Given the description of an element on the screen output the (x, y) to click on. 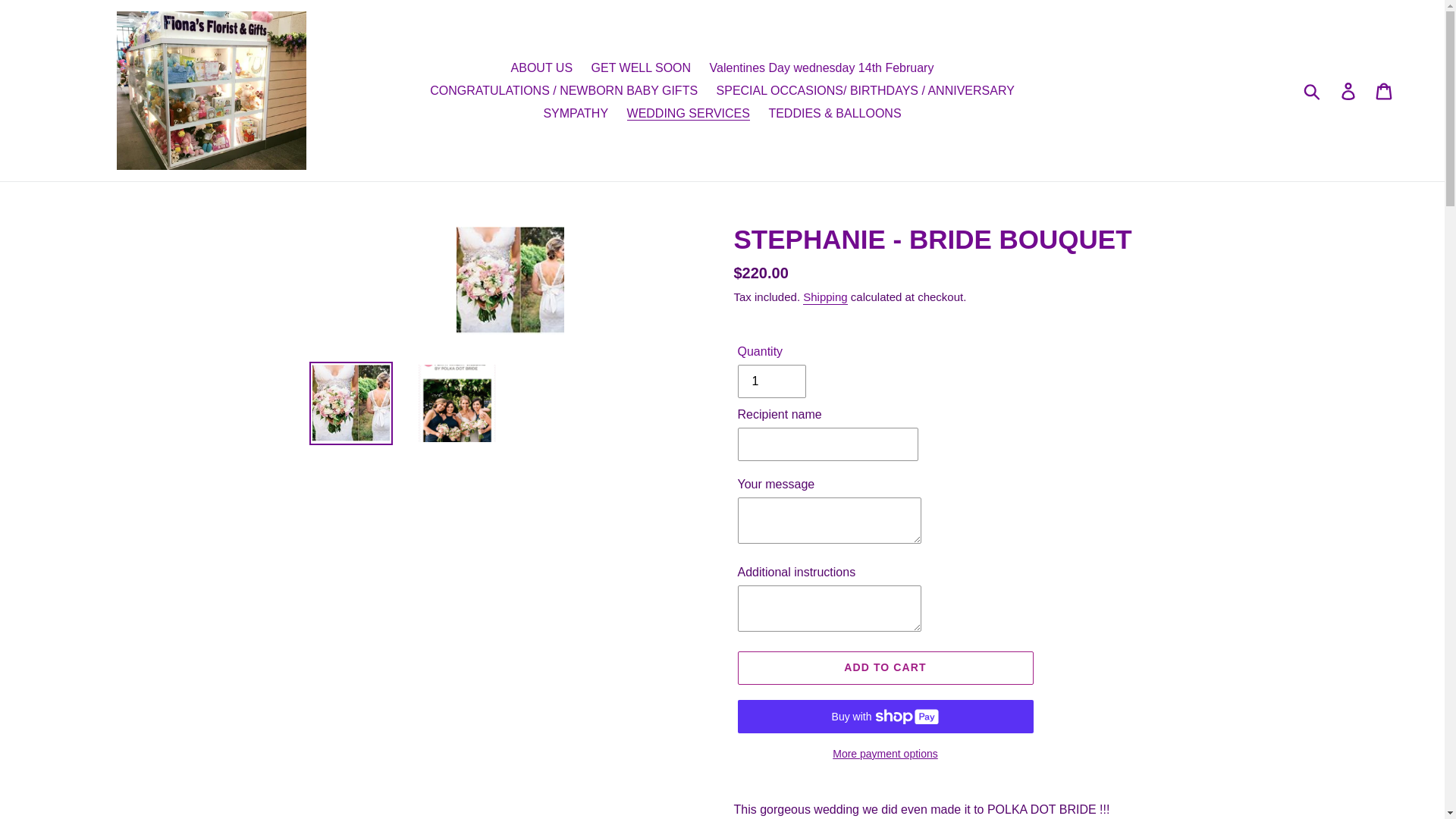
WEDDING SERVICES (688, 112)
ADD TO CART (884, 667)
ABOUT US (541, 67)
GET WELL SOON (640, 67)
1 (770, 381)
Cart (1385, 90)
Valentines Day wednesday 14th February (821, 67)
SYMPATHY (575, 112)
Log in (1349, 90)
Submit (1313, 90)
